Given the description of an element on the screen output the (x, y) to click on. 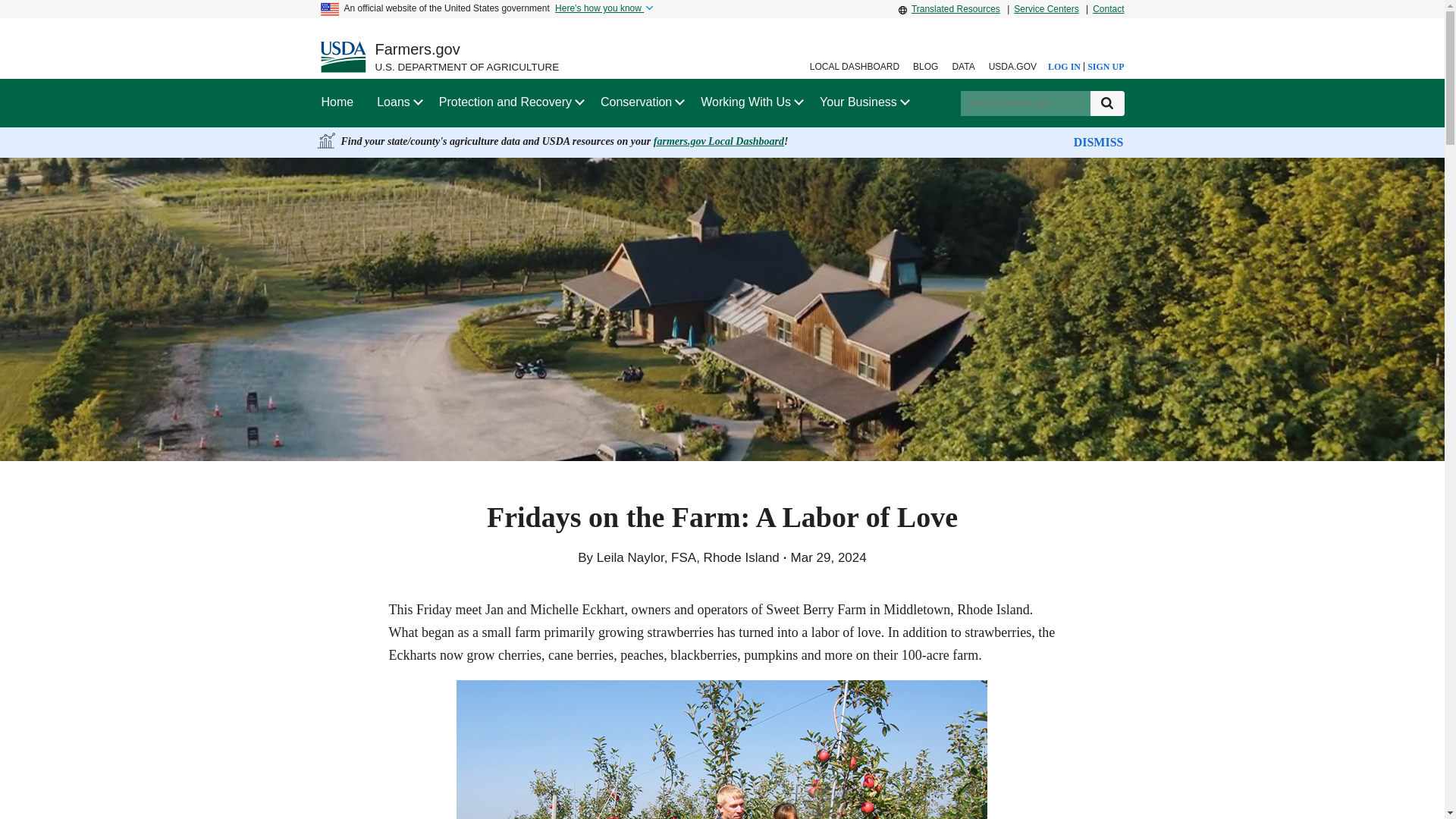
Loans (393, 102)
Protection and Recovery (505, 102)
LOG IN (1059, 66)
LOCAL DASHBOARD (854, 66)
Translated Resources (951, 9)
Contact (1105, 9)
BLOG (924, 66)
Home (337, 102)
SIGN UP (1104, 66)
LOG IN (1059, 66)
